Given the description of an element on the screen output the (x, y) to click on. 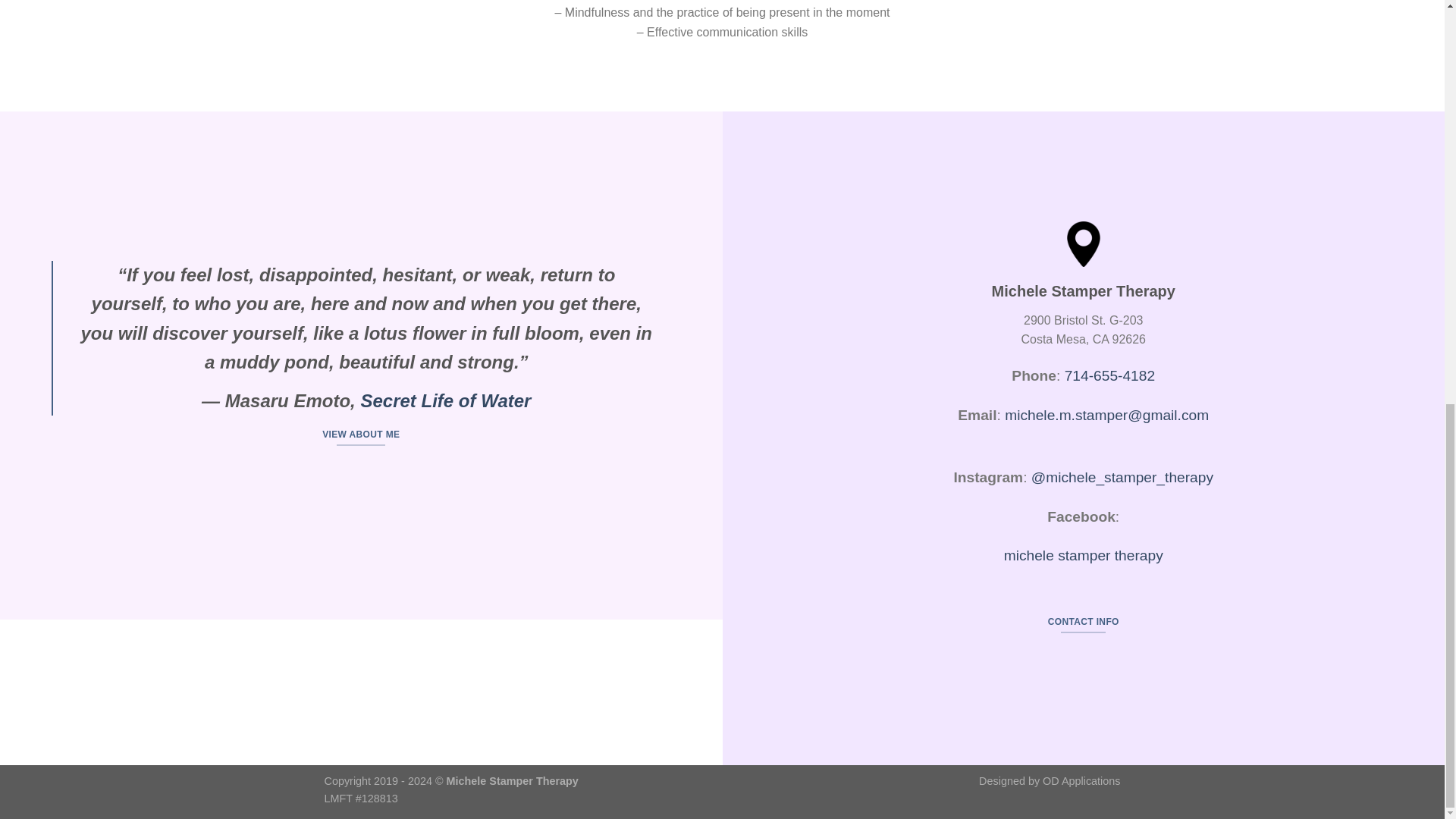
Secret Life of Water (445, 399)
OD Applications (1080, 780)
CONTACT INFO (1083, 621)
Michele Stamper Therapy (512, 780)
VIEW ABOUT ME (360, 434)
michele stamper therapy (1083, 555)
714-655-4182 (1110, 375)
